Given the description of an element on the screen output the (x, y) to click on. 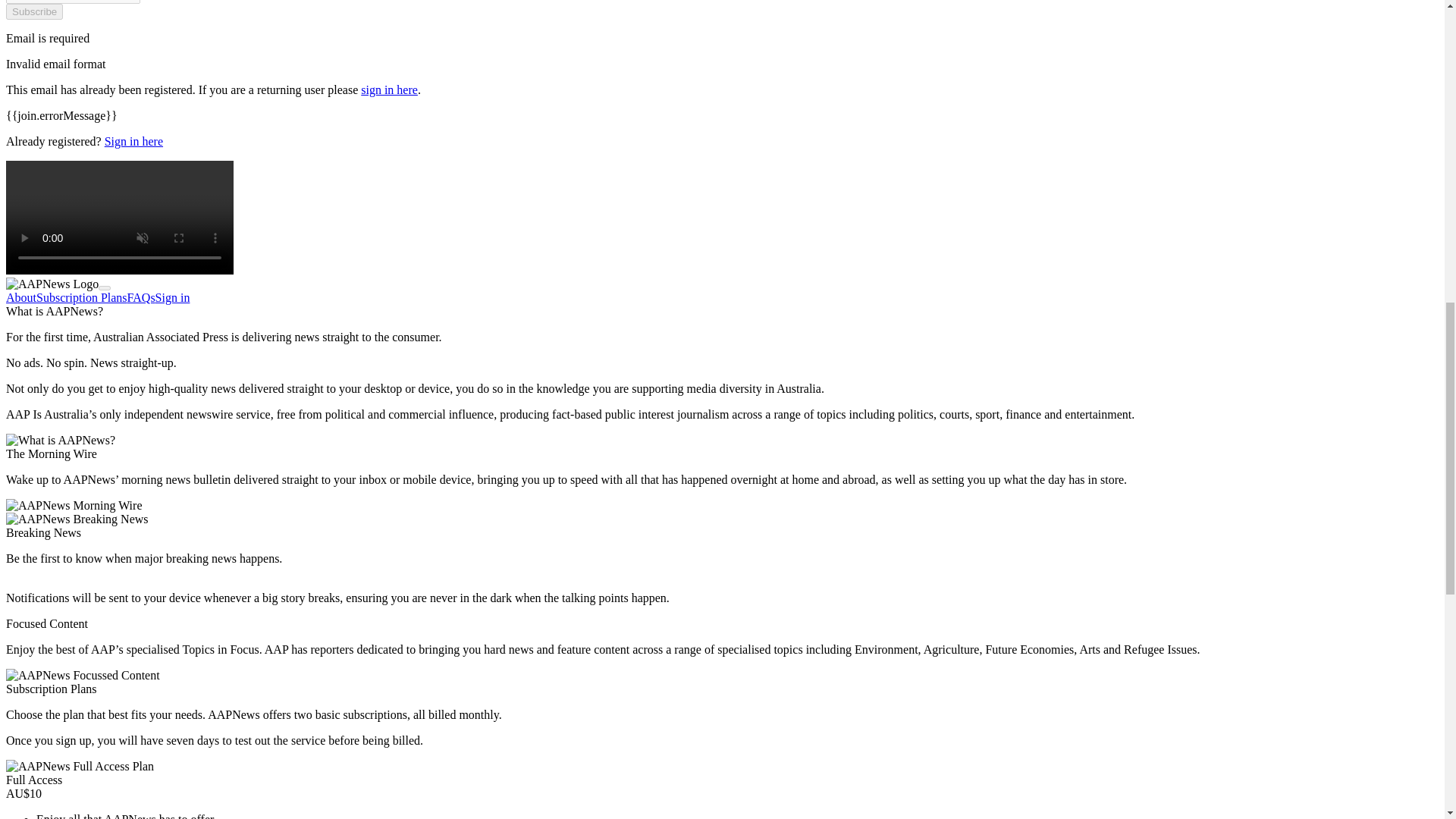
sign in here (389, 89)
Sign in (172, 297)
Sign in here (133, 141)
Subscribe (33, 11)
Subscription Plans (82, 297)
FAQs (141, 297)
About (20, 297)
